Given the description of an element on the screen output the (x, y) to click on. 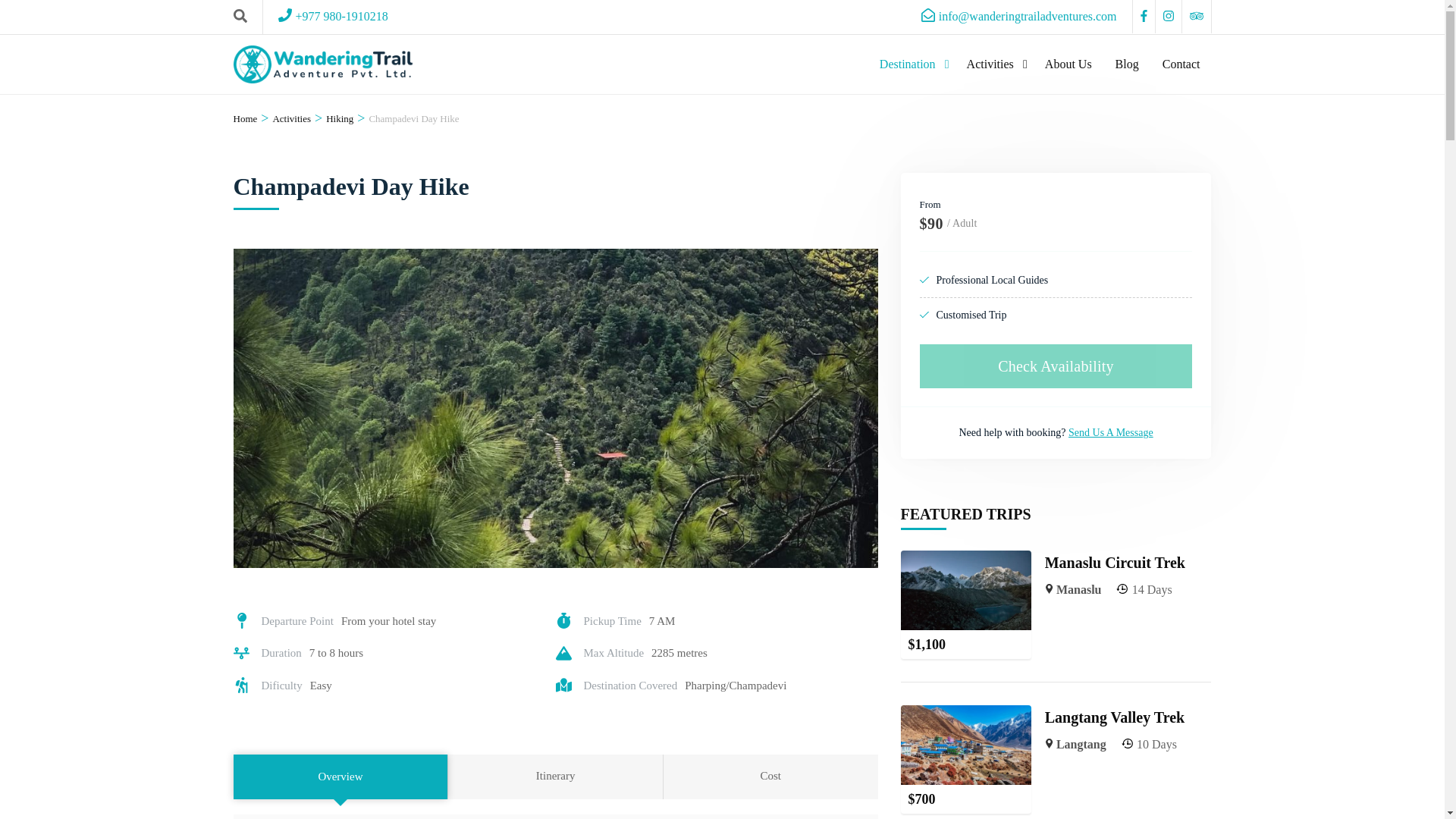
Destination (911, 63)
